Given the description of an element on the screen output the (x, y) to click on. 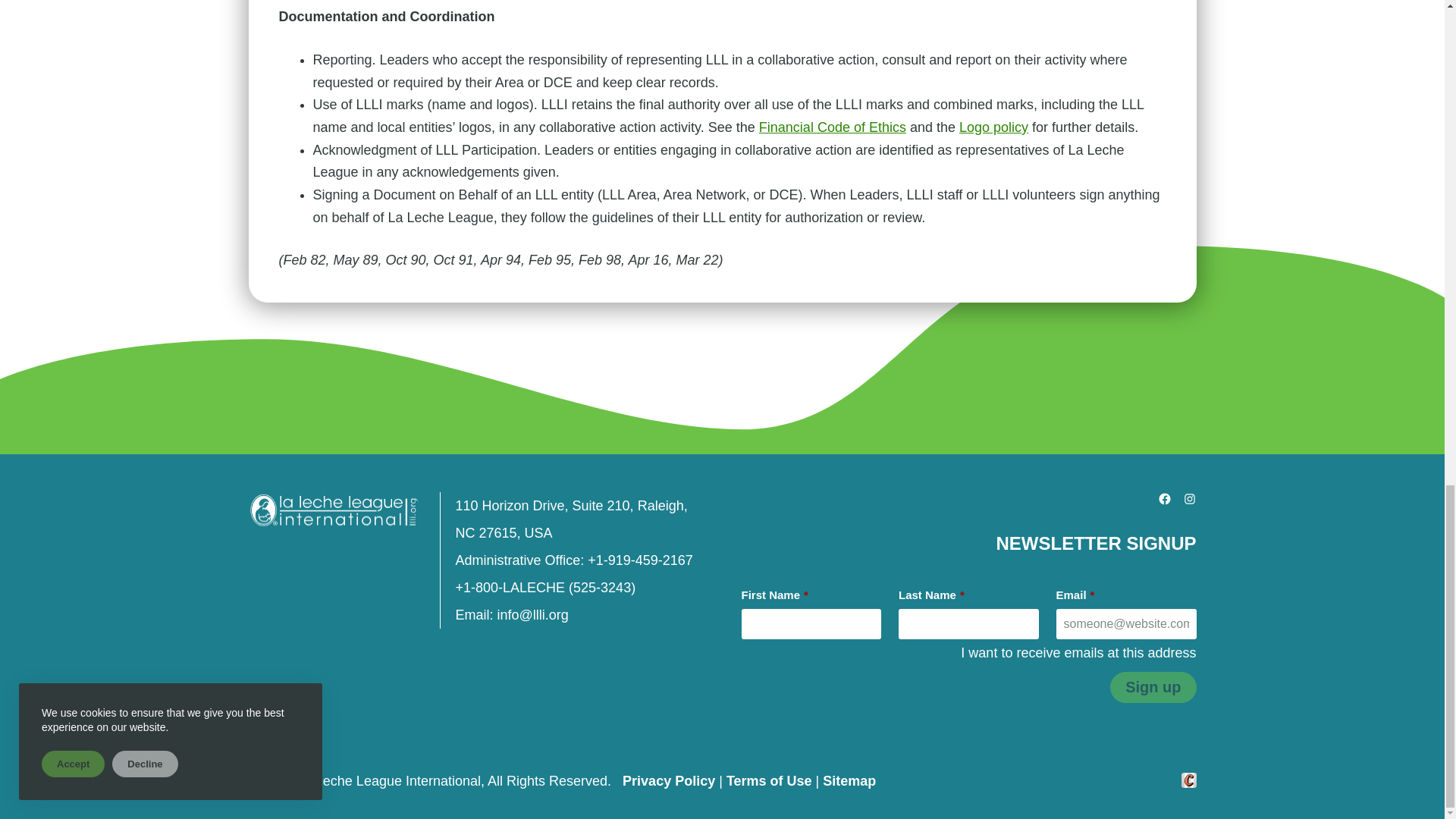
Sign up (1152, 686)
